Given the description of an element on the screen output the (x, y) to click on. 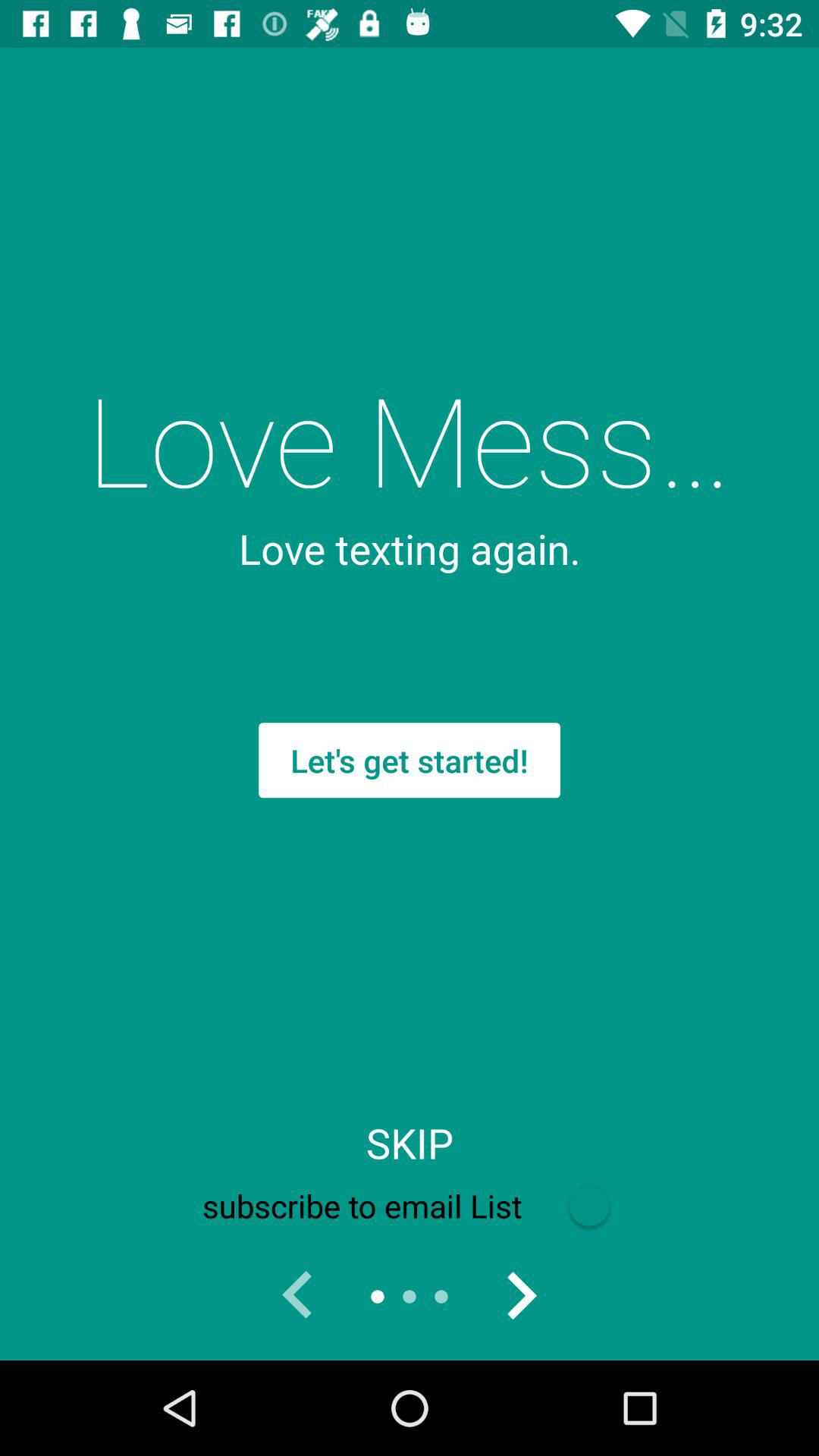
turn on let s get item (409, 759)
